Given the description of an element on the screen output the (x, y) to click on. 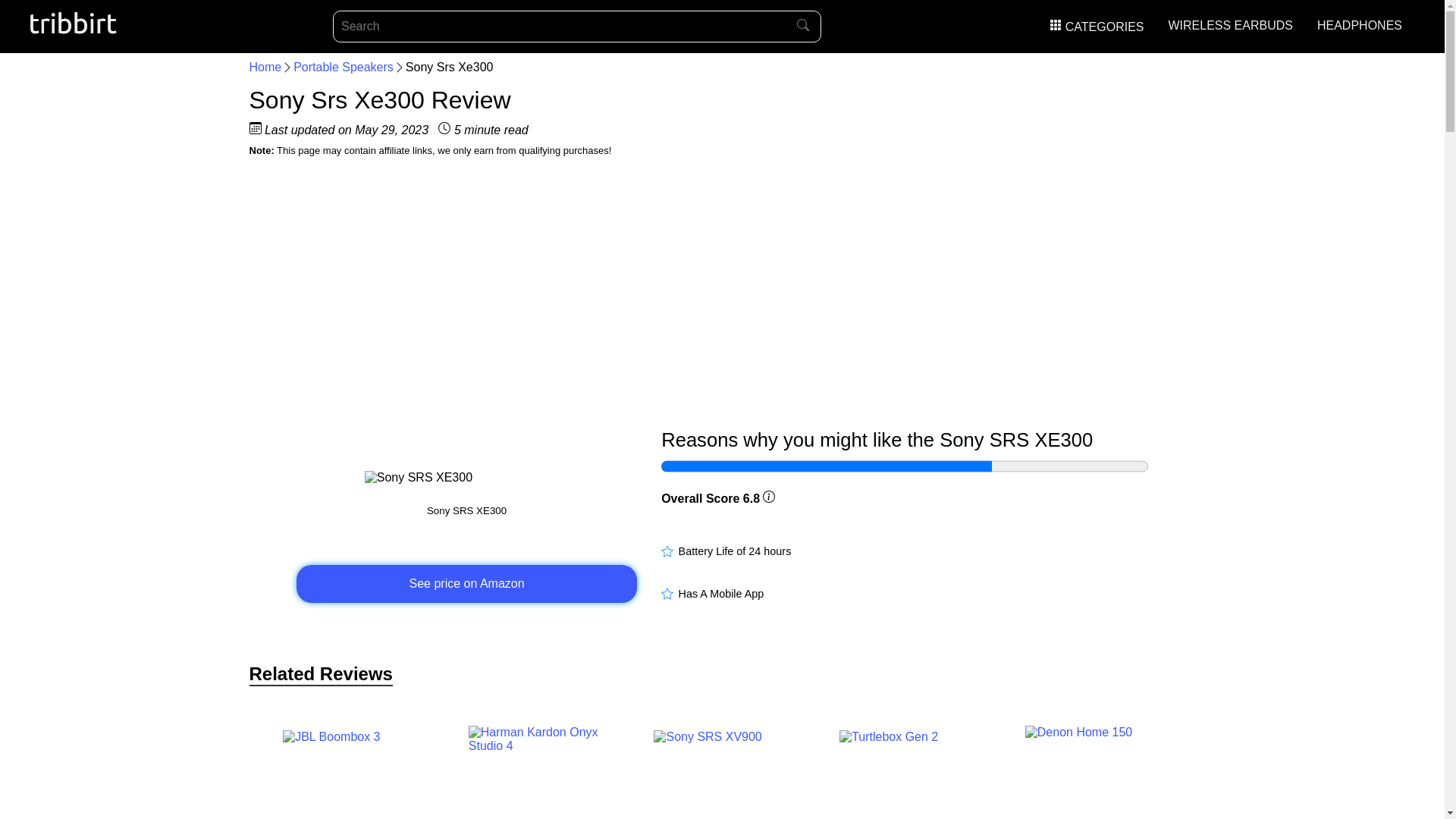
HEADPHONES (1359, 24)
Home (264, 67)
WIRELESS EARBUDS (1229, 24)
CATEGORIES (1095, 26)
Portable Speakers (343, 67)
See price on Amazon (467, 583)
